Given the description of an element on the screen output the (x, y) to click on. 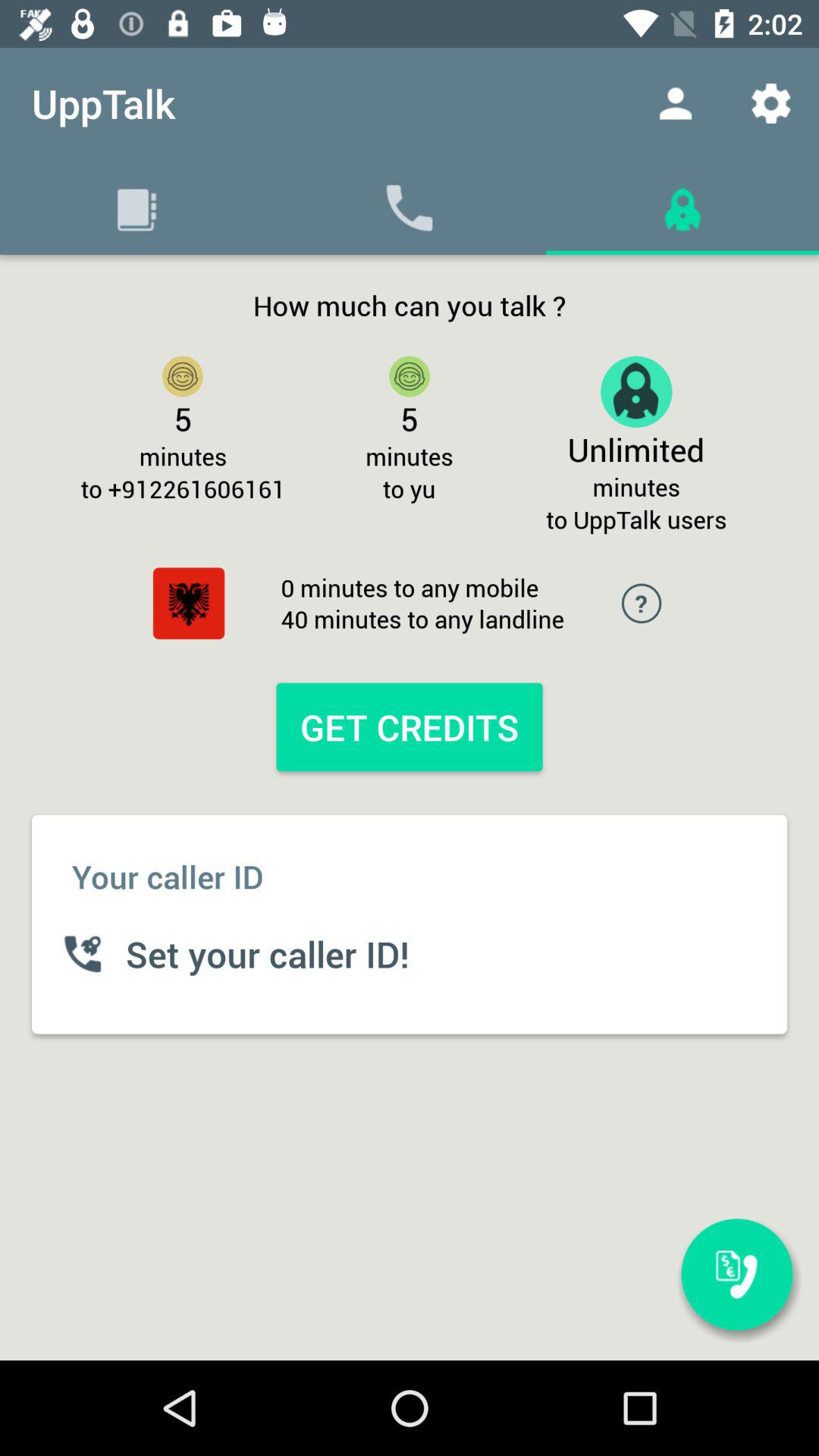
tap the icon below the 40 minutes to item (409, 727)
